Given the description of an element on the screen output the (x, y) to click on. 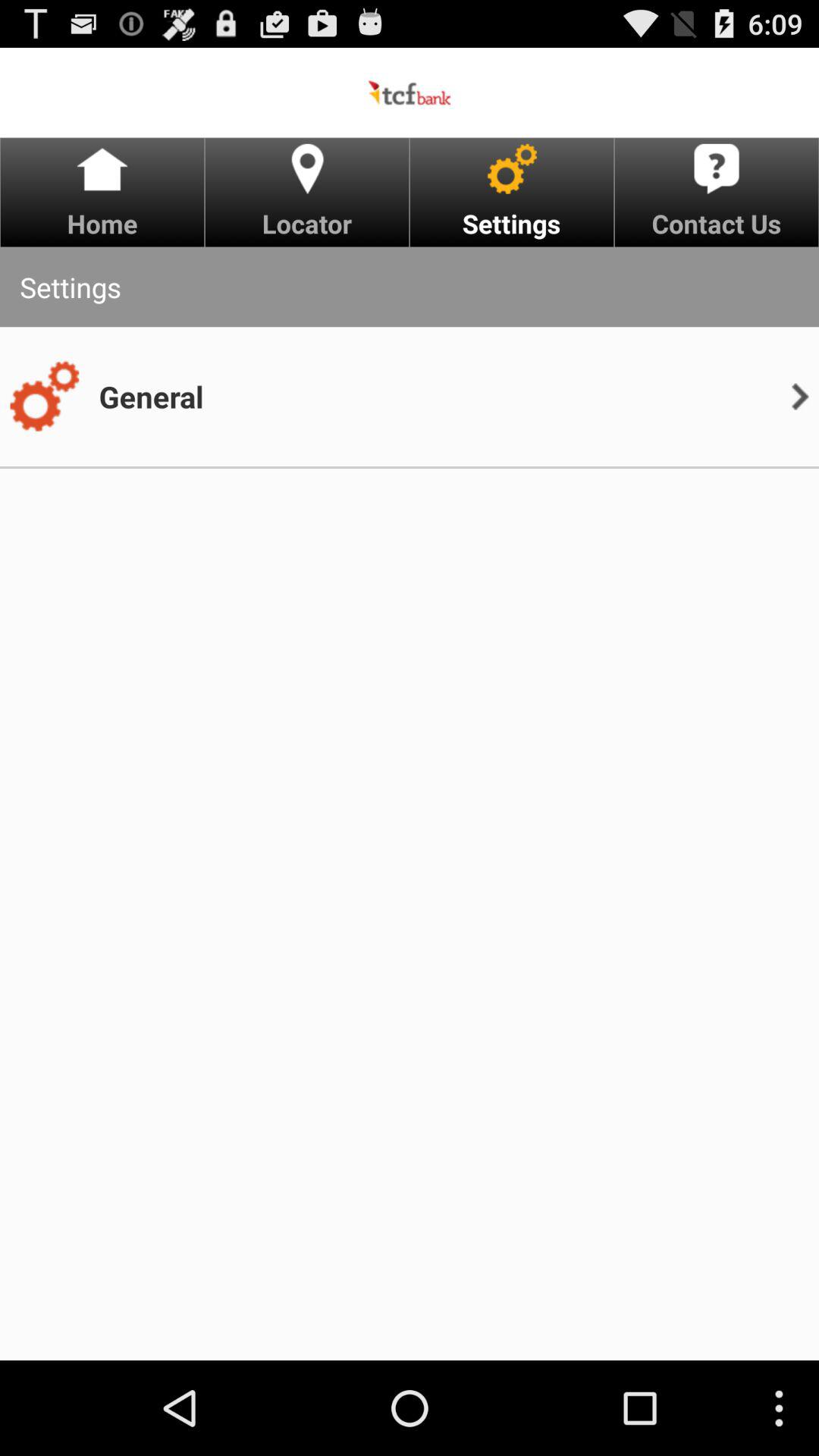
open item to the left of general icon (44, 396)
